Given the description of an element on the screen output the (x, y) to click on. 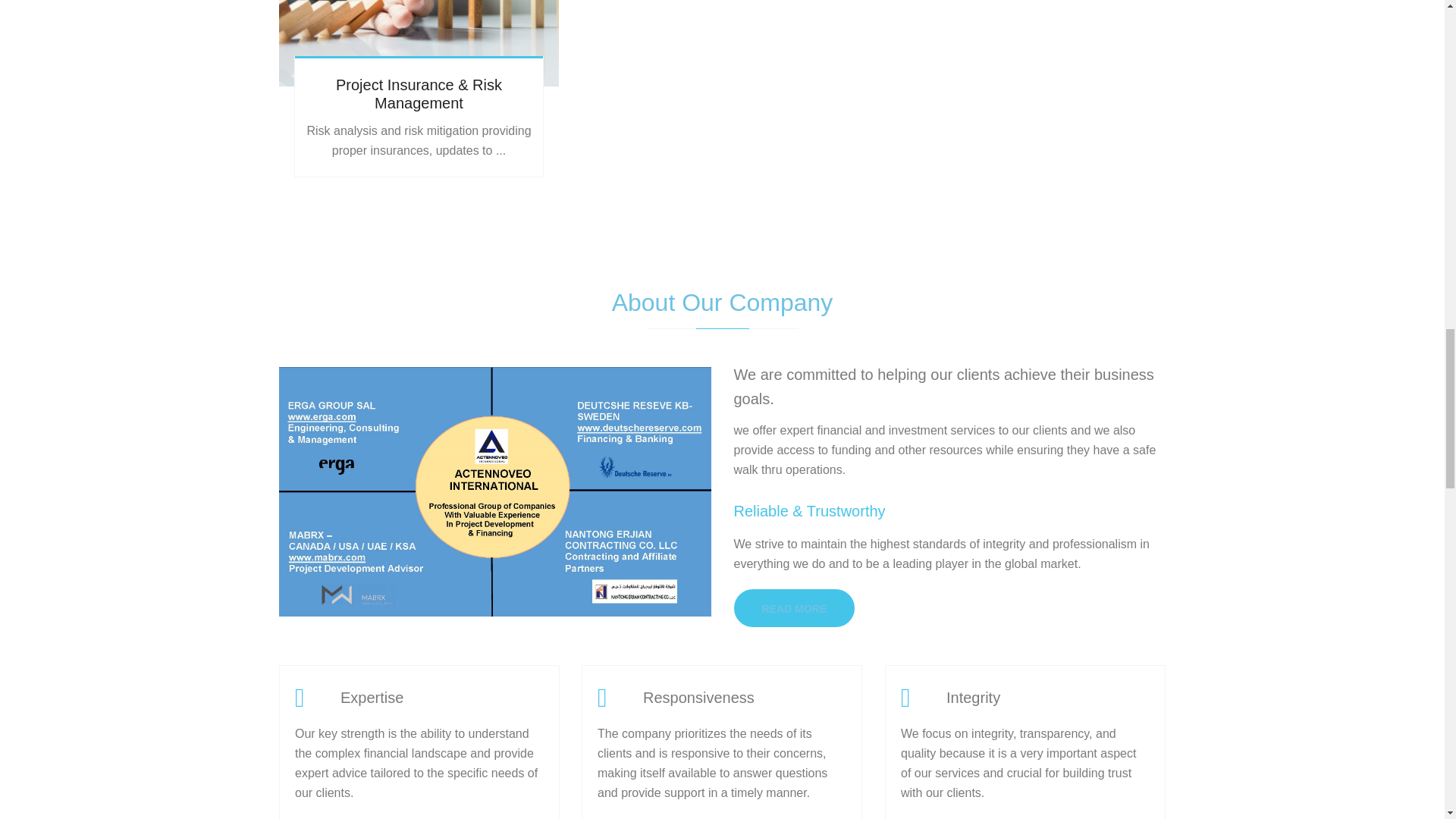
READ MORE (794, 607)
